Given the description of an element on the screen output the (x, y) to click on. 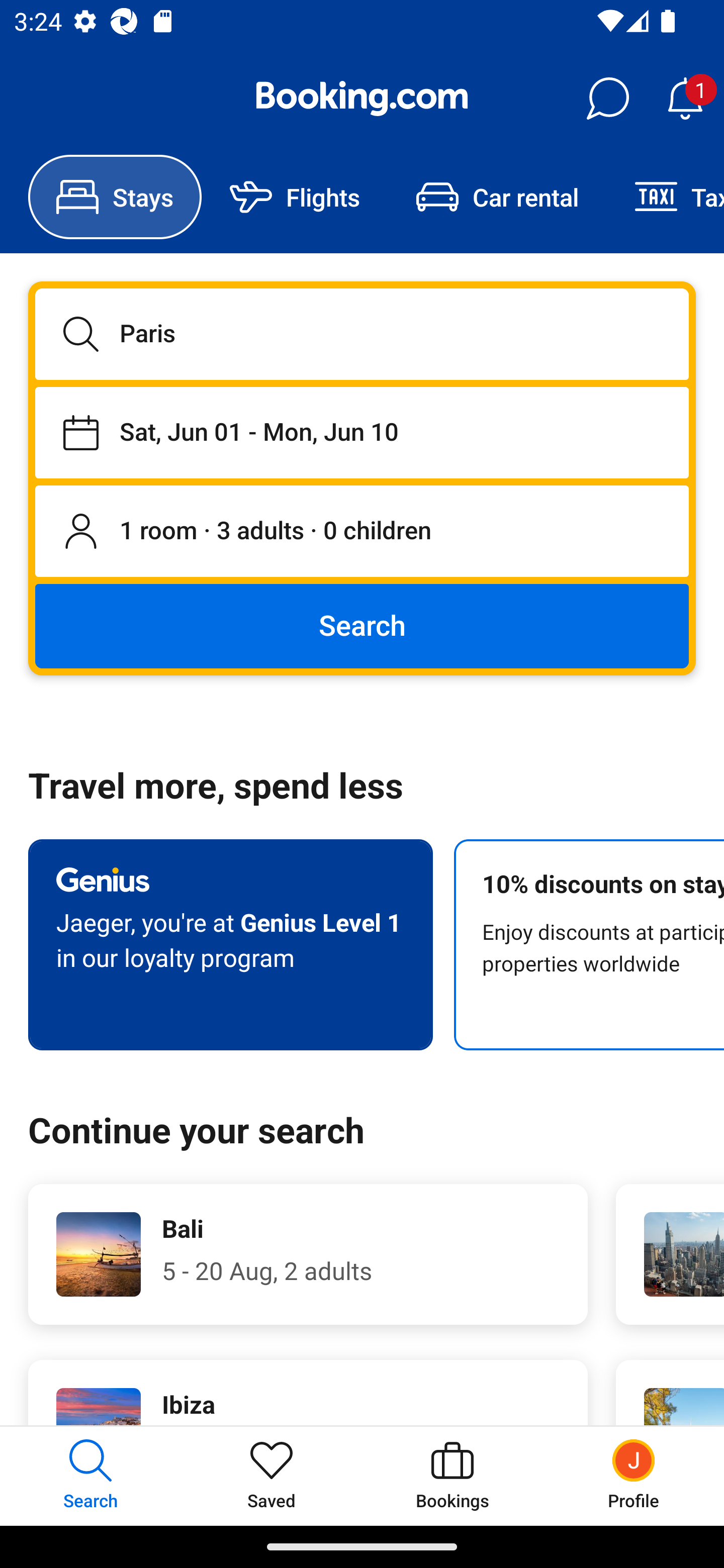
Messages (607, 98)
Notifications (685, 98)
Stays (114, 197)
Flights (294, 197)
Car rental (497, 197)
Taxi (665, 197)
Paris (361, 333)
Staying from Sat, Jun 01 until Mon, Jun 10 (361, 432)
1 room, 3 adults, 0 children (361, 531)
Search (361, 625)
Bali 5 - 20 Aug, 2 adults (307, 1253)
Saved (271, 1475)
Bookings (452, 1475)
Profile (633, 1475)
